Given the description of an element on the screen output the (x, y) to click on. 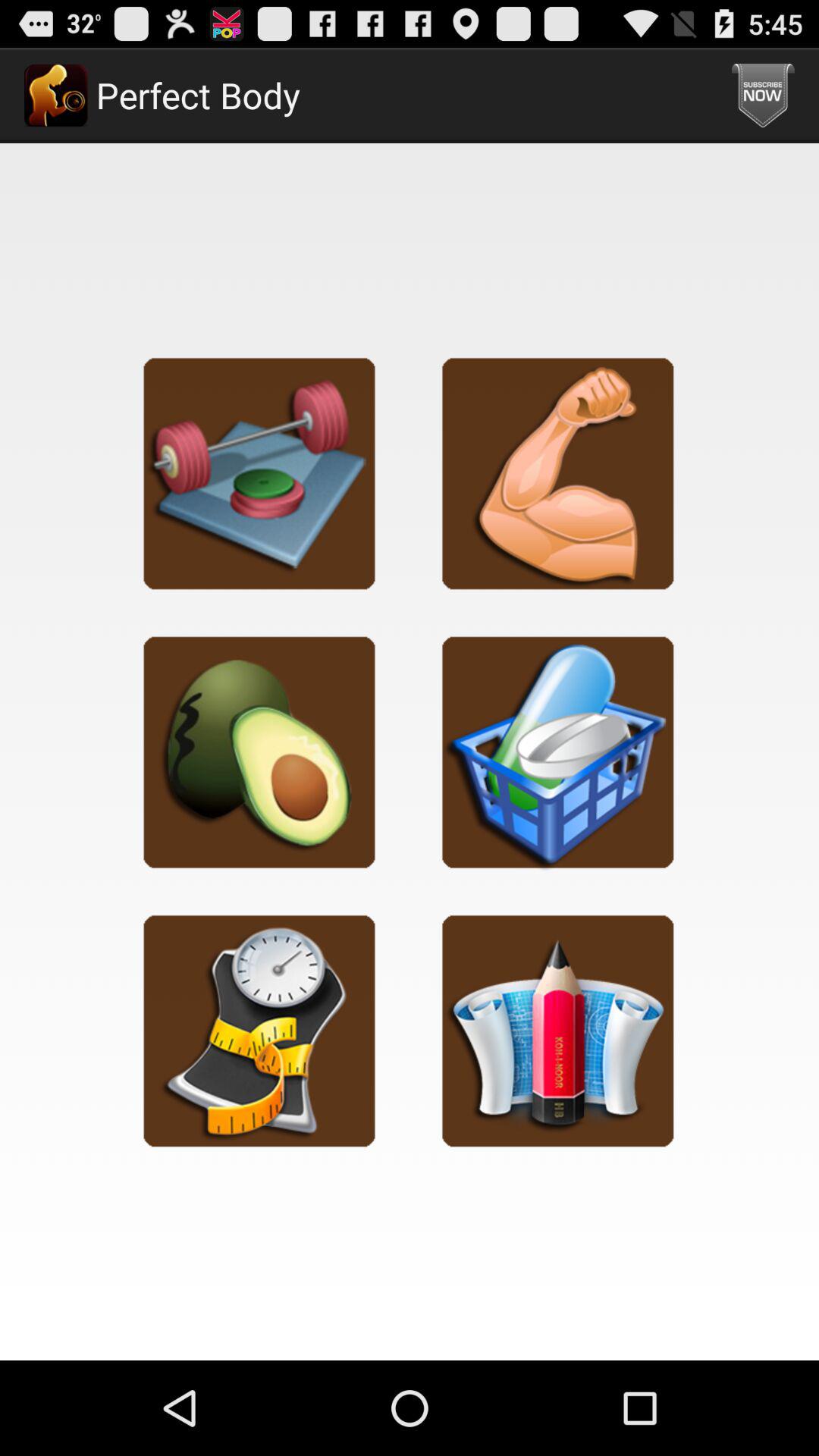
muscle building option (558, 472)
